Given the description of an element on the screen output the (x, y) to click on. 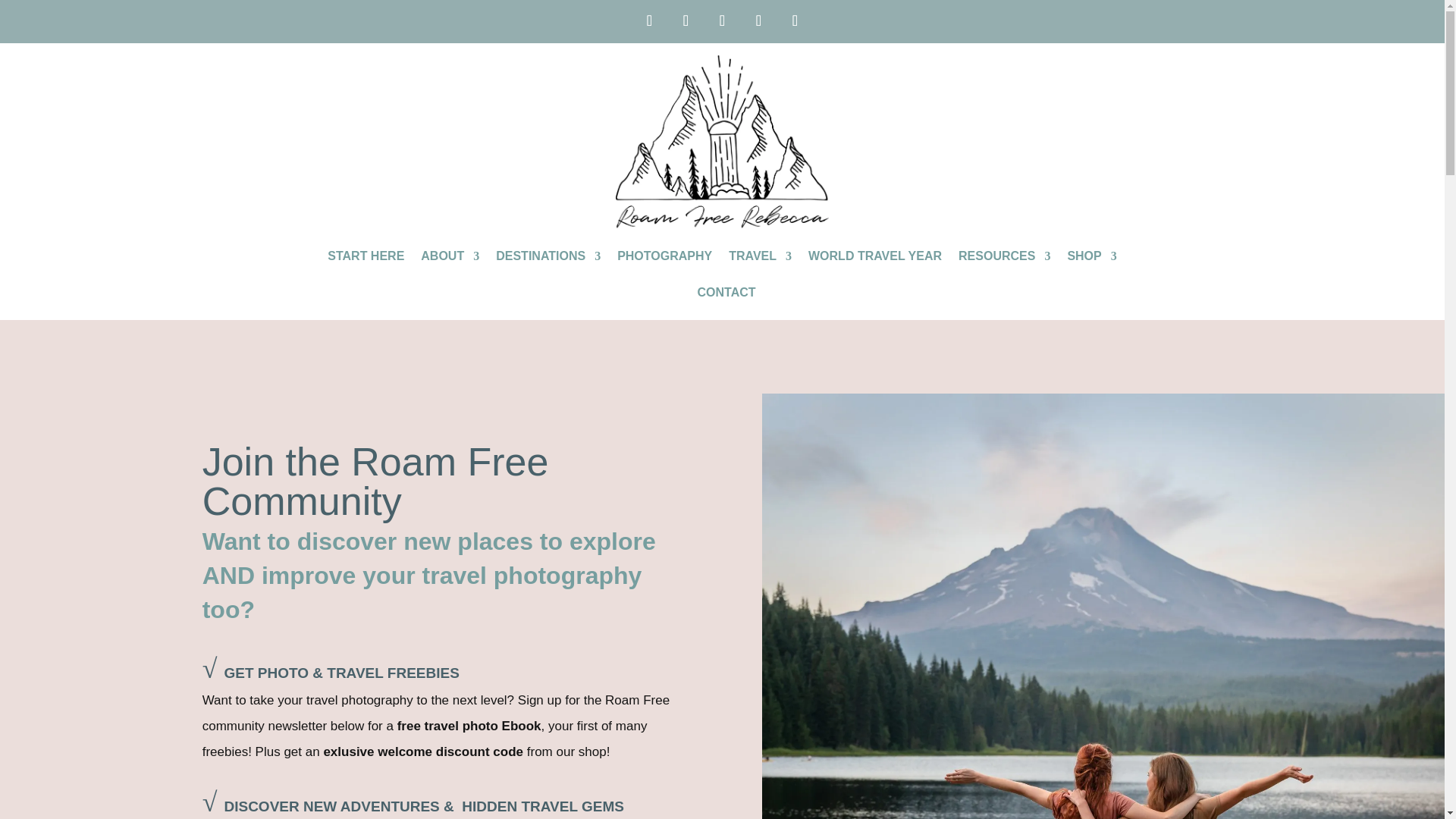
TRAVEL (760, 266)
DESTINATIONS (547, 266)
Follow on Youtube (721, 20)
Follow on Pinterest (757, 20)
WORLD TRAVEL YEAR (875, 266)
PHOTOGRAPHY (664, 266)
ABOUT (449, 266)
RESOURCES (1003, 266)
Follow on Instagram (648, 20)
Follow on TikTok (684, 20)
START HERE (365, 266)
Follow on Facebook (793, 20)
SHOP (1091, 266)
CONTACT (726, 303)
